Given the description of an element on the screen output the (x, y) to click on. 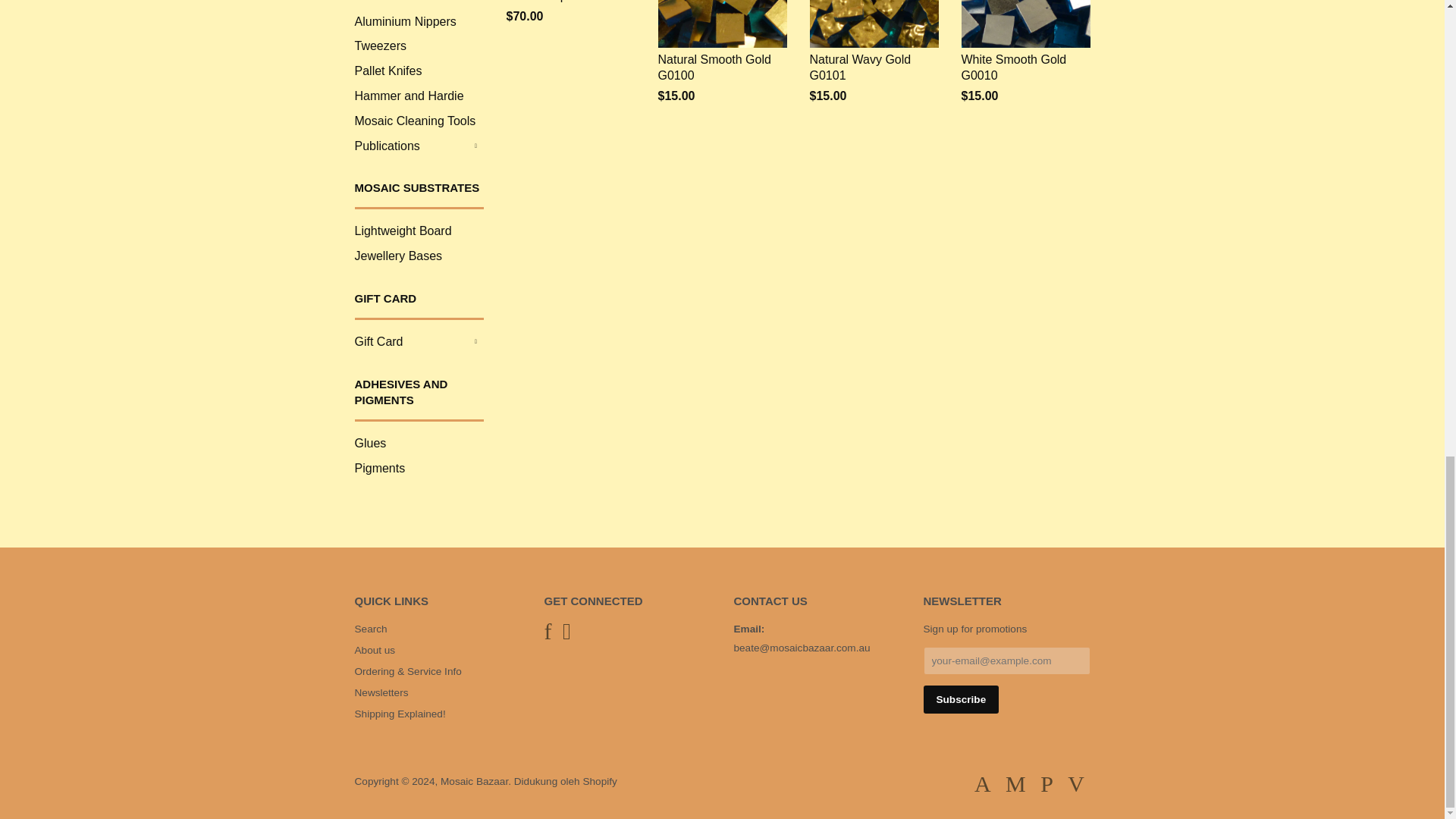
Subscribe (960, 699)
